Given the description of an element on the screen output the (x, y) to click on. 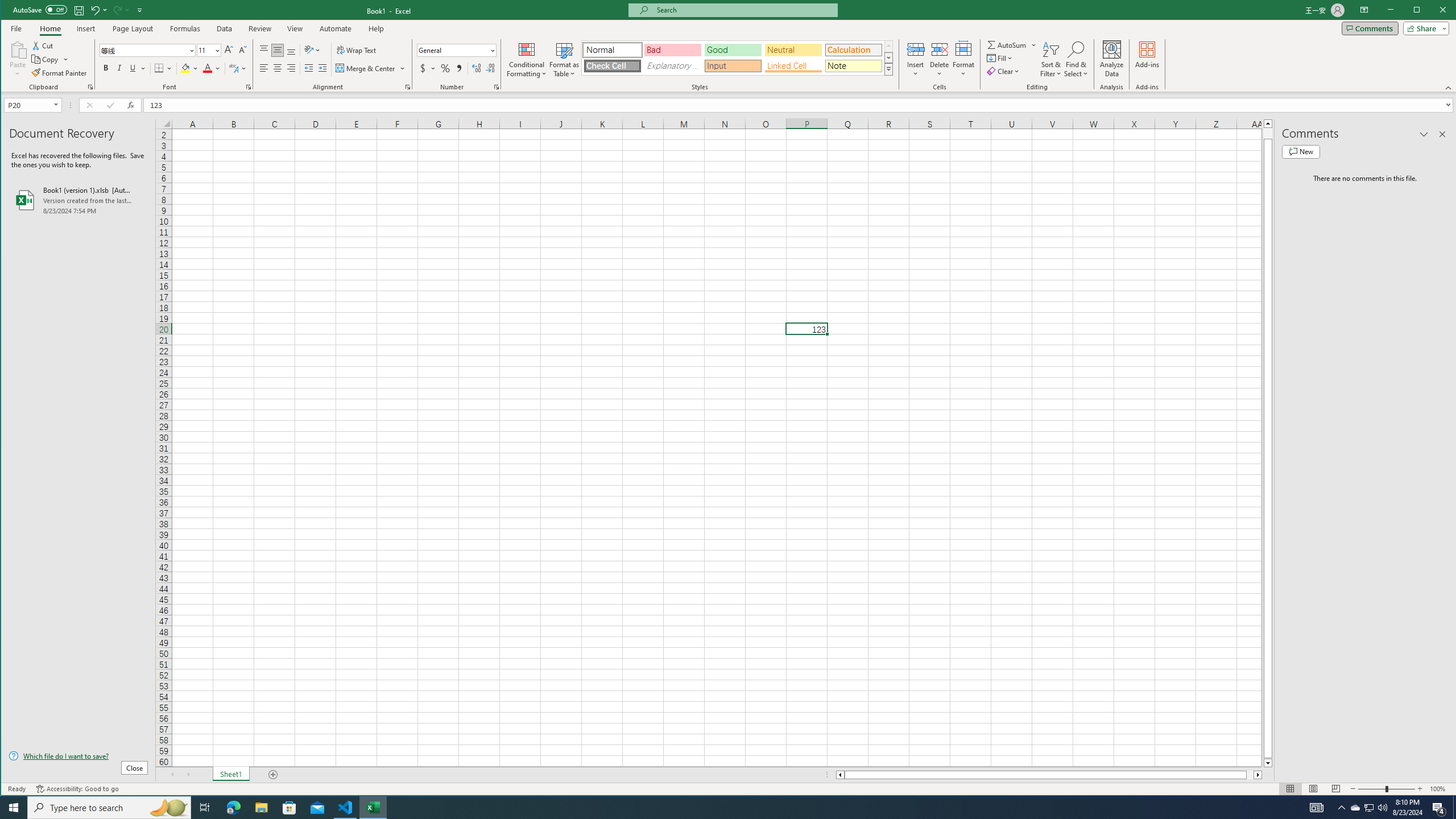
Increase Indent (322, 68)
AutoSum (1012, 44)
Task View (204, 807)
Decrease Decimal (489, 68)
Font (147, 49)
Italic (119, 68)
Merge & Center (365, 68)
Wrap Text (356, 49)
Maximize (1432, 11)
